Given the description of an element on the screen output the (x, y) to click on. 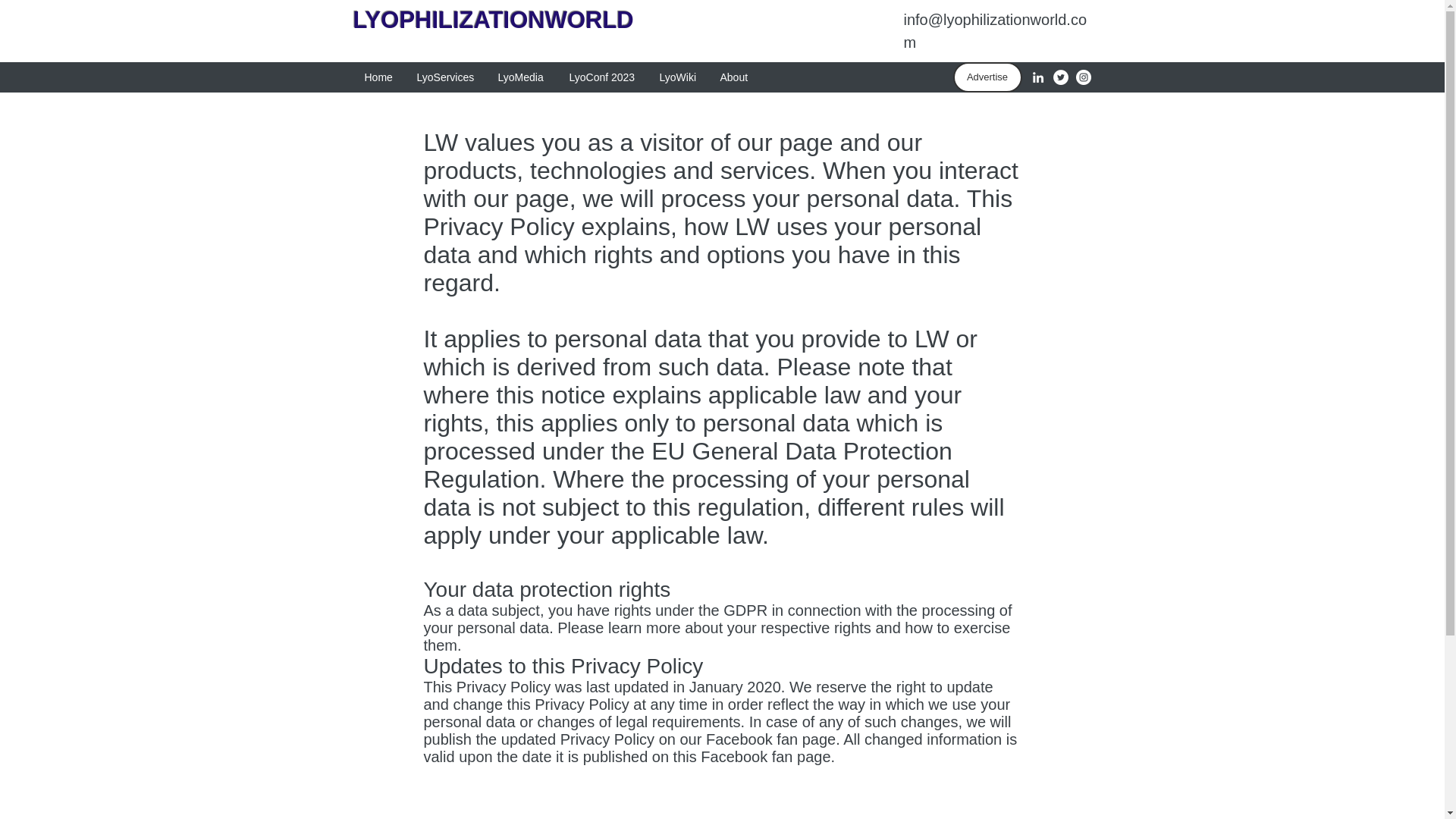
LyoWiki (677, 77)
About (734, 77)
LYOPHILIZATIONWORLD  (496, 19)
Advertise (987, 77)
LyoConf 2023 (602, 77)
LyoServices (445, 77)
LyoMedia (521, 77)
Home (379, 77)
